Given the description of an element on the screen output the (x, y) to click on. 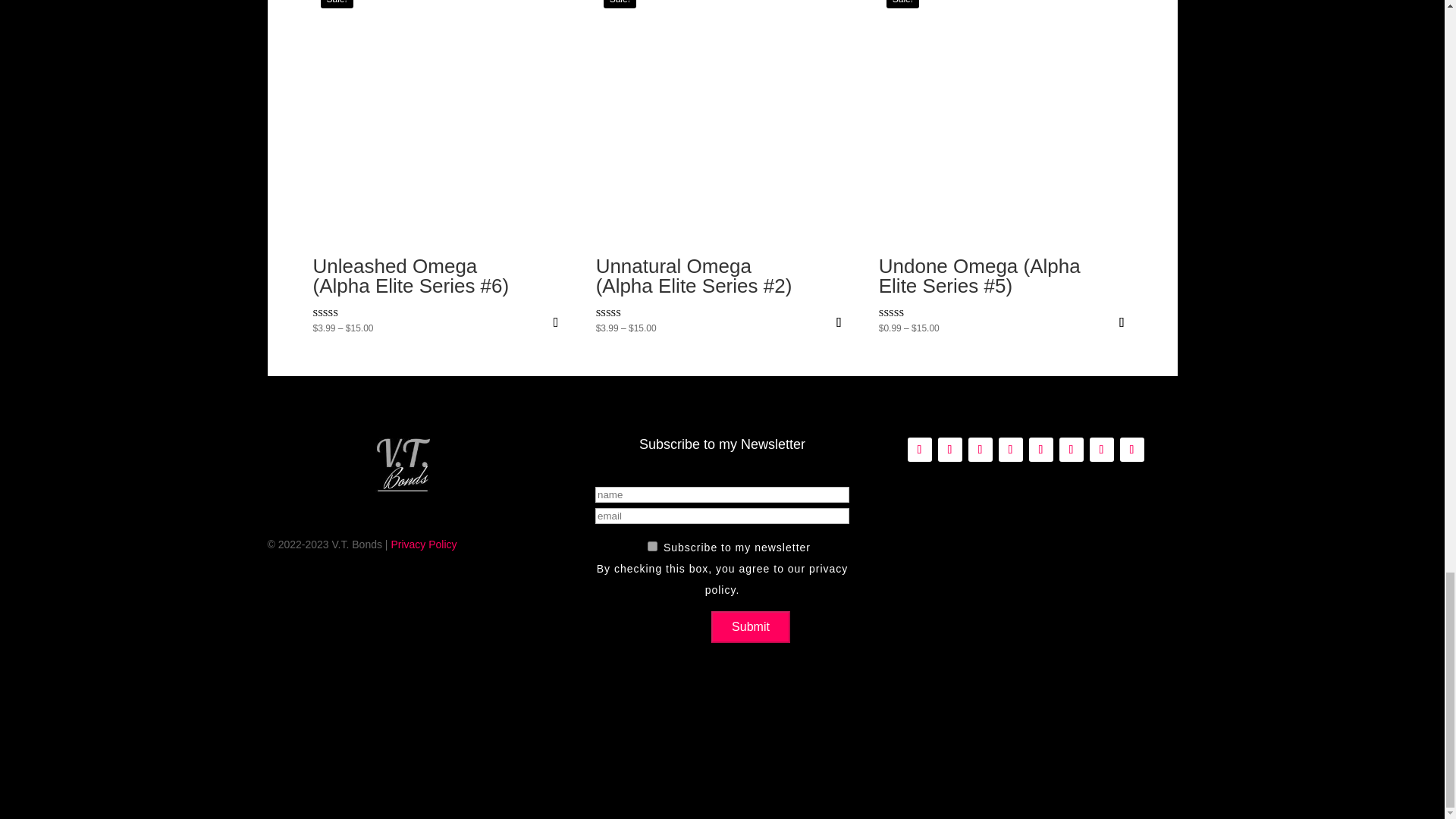
Subscribe to my newsletter (652, 546)
Follow on Amazon (919, 449)
vtbonds (401, 465)
Submit (750, 626)
